Given the description of an element on the screen output the (x, y) to click on. 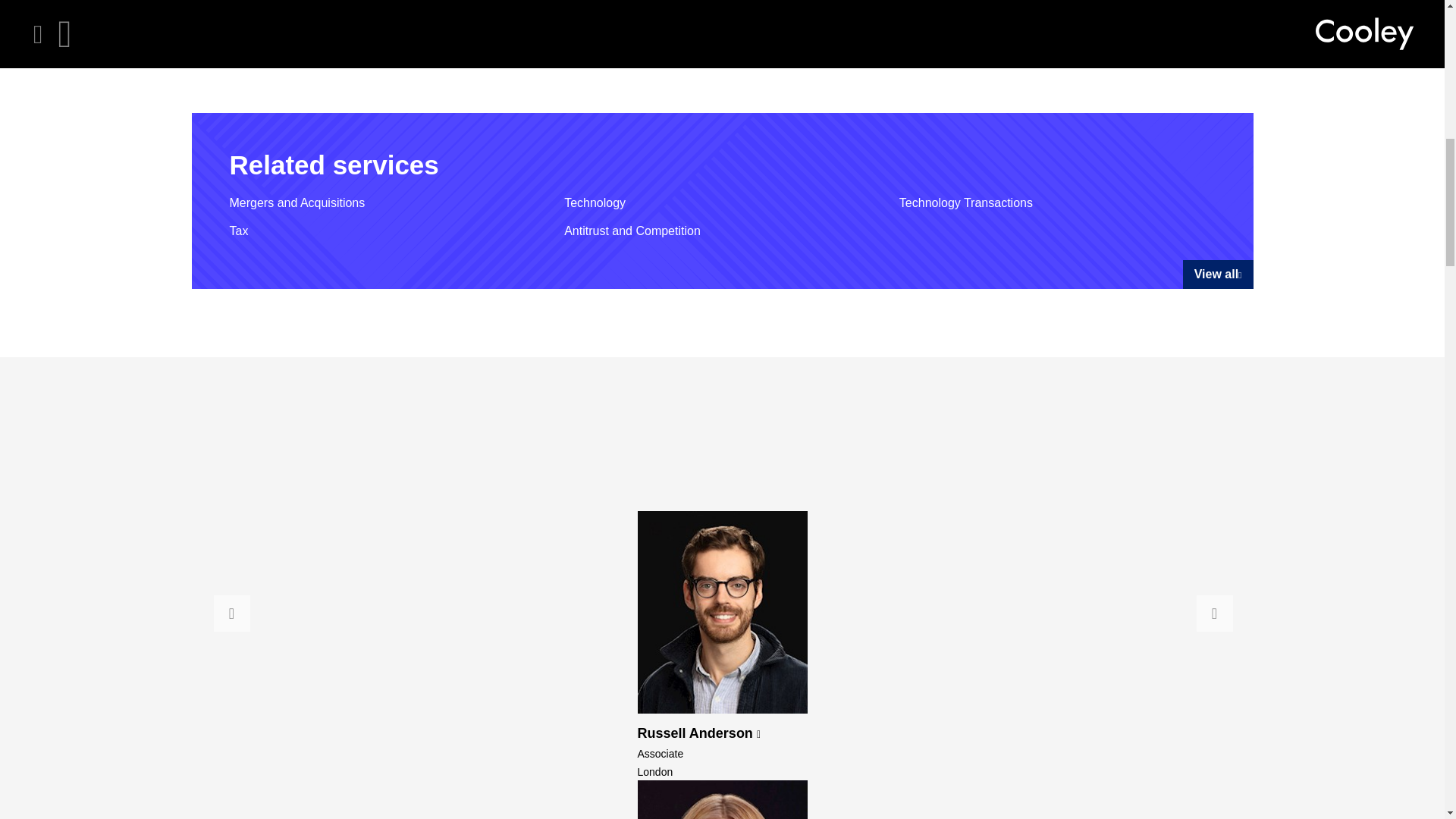
Russell Anderson (698, 733)
Tax (237, 230)
Antitrust and Competition (632, 230)
Mergers and Acquisitions (296, 202)
Technology Transactions (965, 202)
Technology (595, 202)
View all (1217, 274)
